Given the description of an element on the screen output the (x, y) to click on. 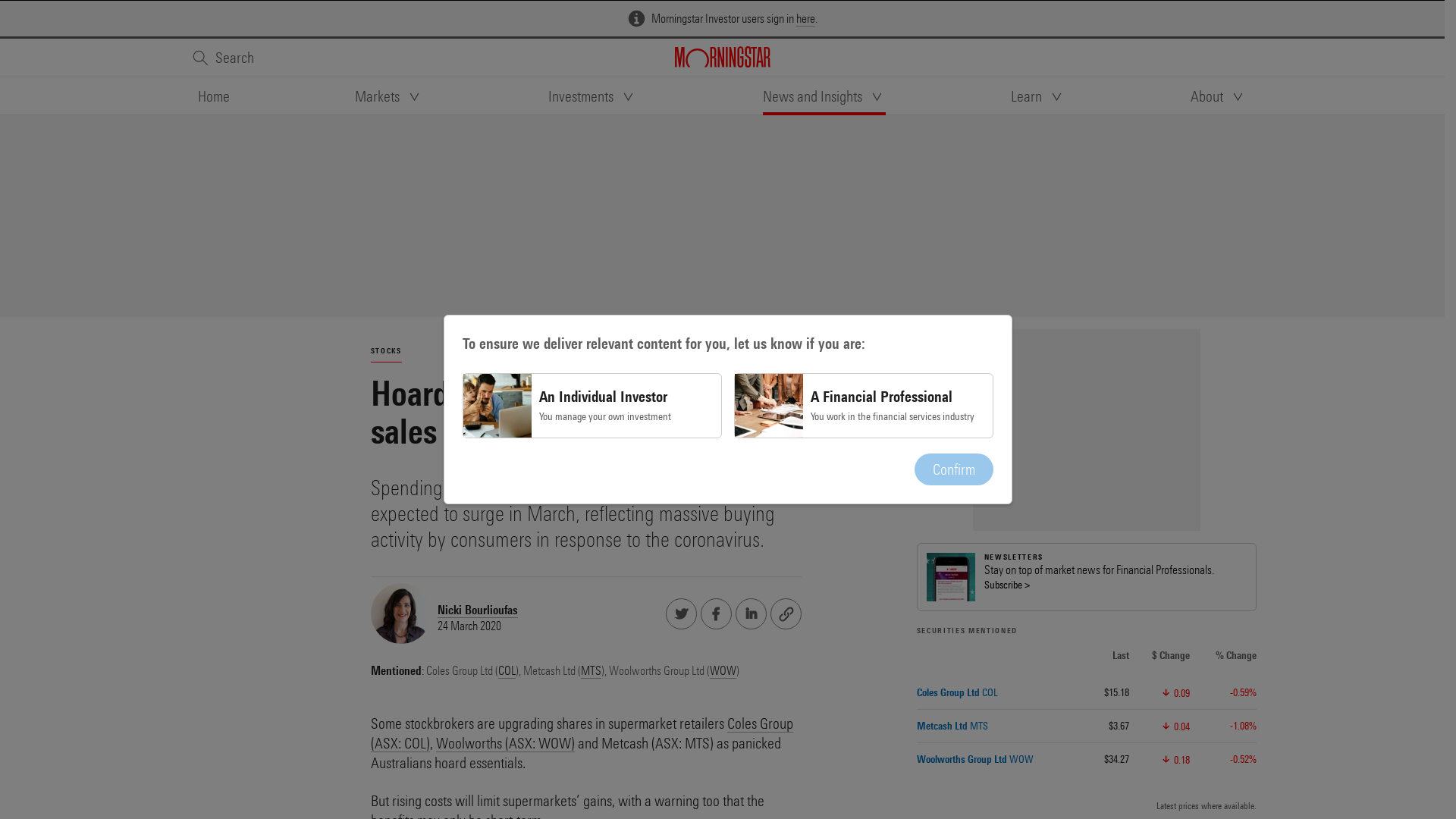
Metcash Ltd MTS Element type: text (951, 725)
Coles Group Ltd COL Element type: text (956, 692)
About Element type: text (1218, 96)
Woolworths (ASX: WOW) Element type: text (504, 743)
Coles Group (ASX: COL) Element type: text (581, 733)
Copy Article link to clipboard for sharing Element type: hover (785, 612)
Investments Element type: text (592, 96)
News and Insights Element type: text (823, 96)
Search Element type: text (222, 57)
Share this article on LinkedIn Element type: hover (750, 612)
Confirm Element type: text (953, 469)
COL Element type: text (505, 670)
Learn Element type: text (1037, 96)
Woolworths Group Ltd WOW Element type: text (974, 759)
here Element type: text (805, 18)
Share this article on Facebook Element type: hover (715, 612)
Markets Element type: text (388, 96)
Nicki Bourlioufas Element type: text (476, 610)
WOW Element type: text (722, 670)
Home Element type: text (213, 96)
MTS Element type: text (590, 670)
Share this article on Twitter Element type: hover (680, 612)
